Given the description of an element on the screen output the (x, y) to click on. 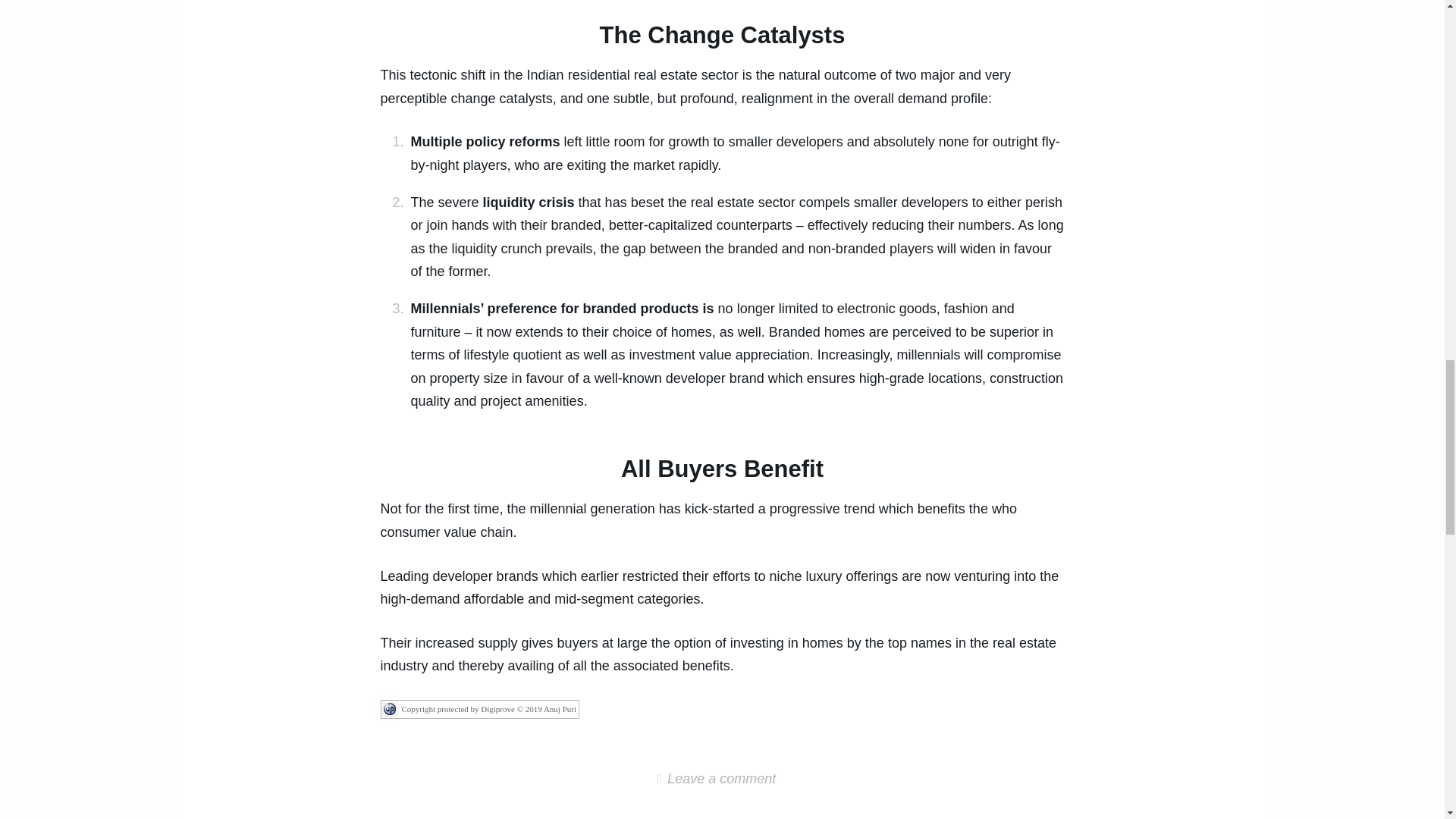
Leave a comment (722, 778)
